Given the description of an element on the screen output the (x, y) to click on. 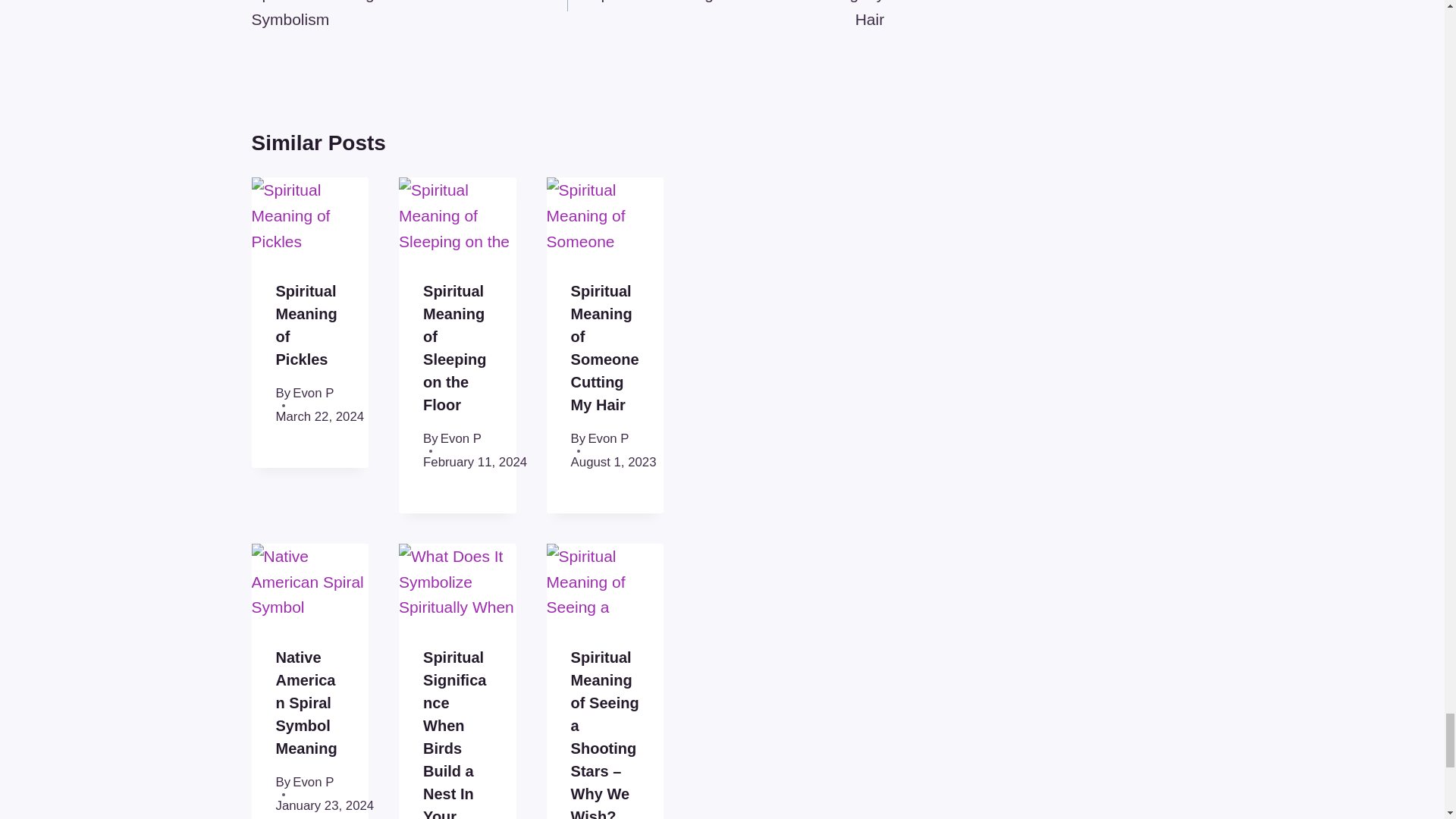
Evon P (461, 438)
Evon P (409, 15)
Evon P (725, 15)
Evon P (312, 392)
